Given the description of an element on the screen output the (x, y) to click on. 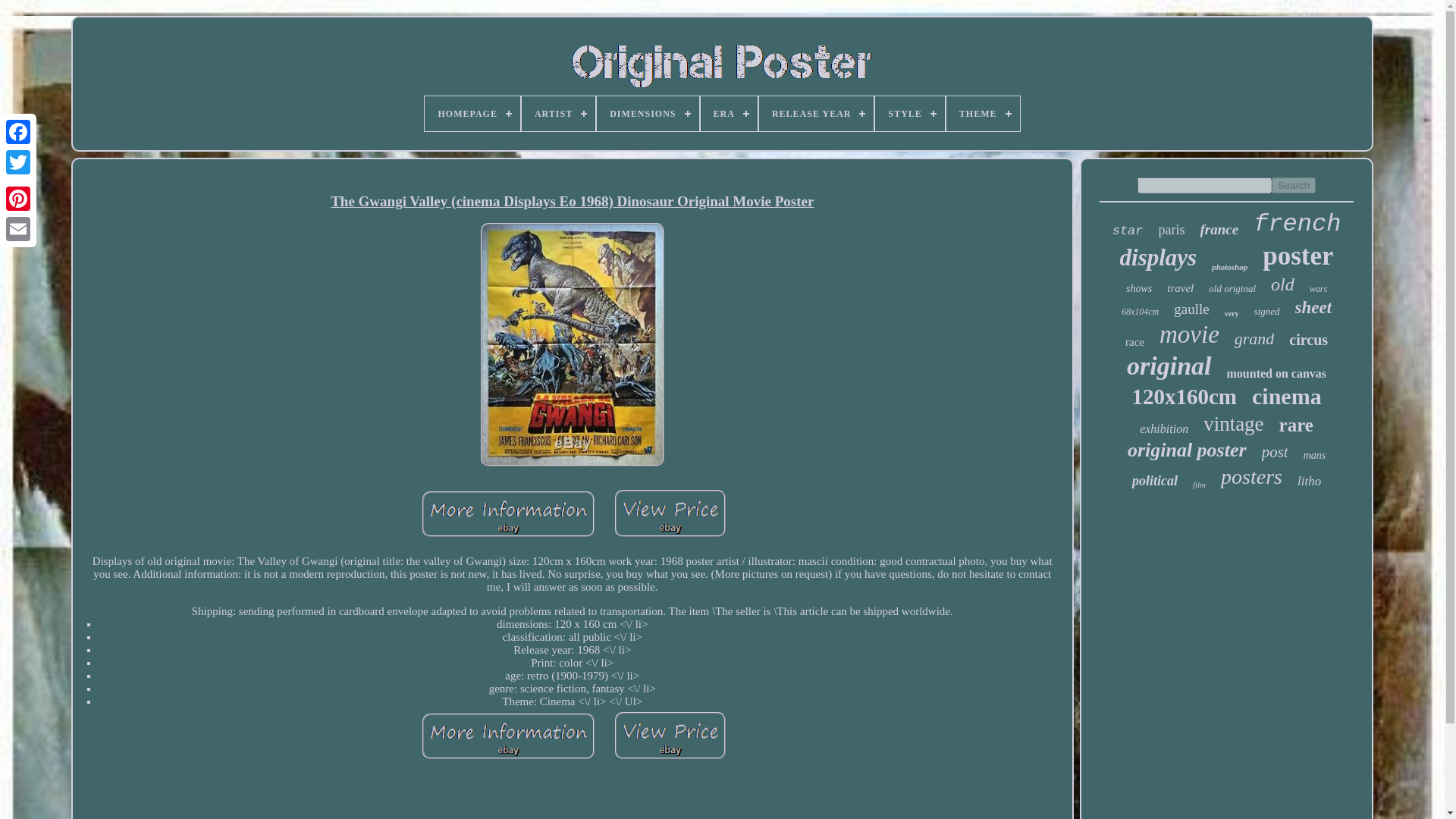
ERA (728, 113)
DIMENSIONS (647, 113)
HOMEPAGE (472, 113)
ARTIST (558, 113)
Search (1293, 185)
